Given the description of an element on the screen output the (x, y) to click on. 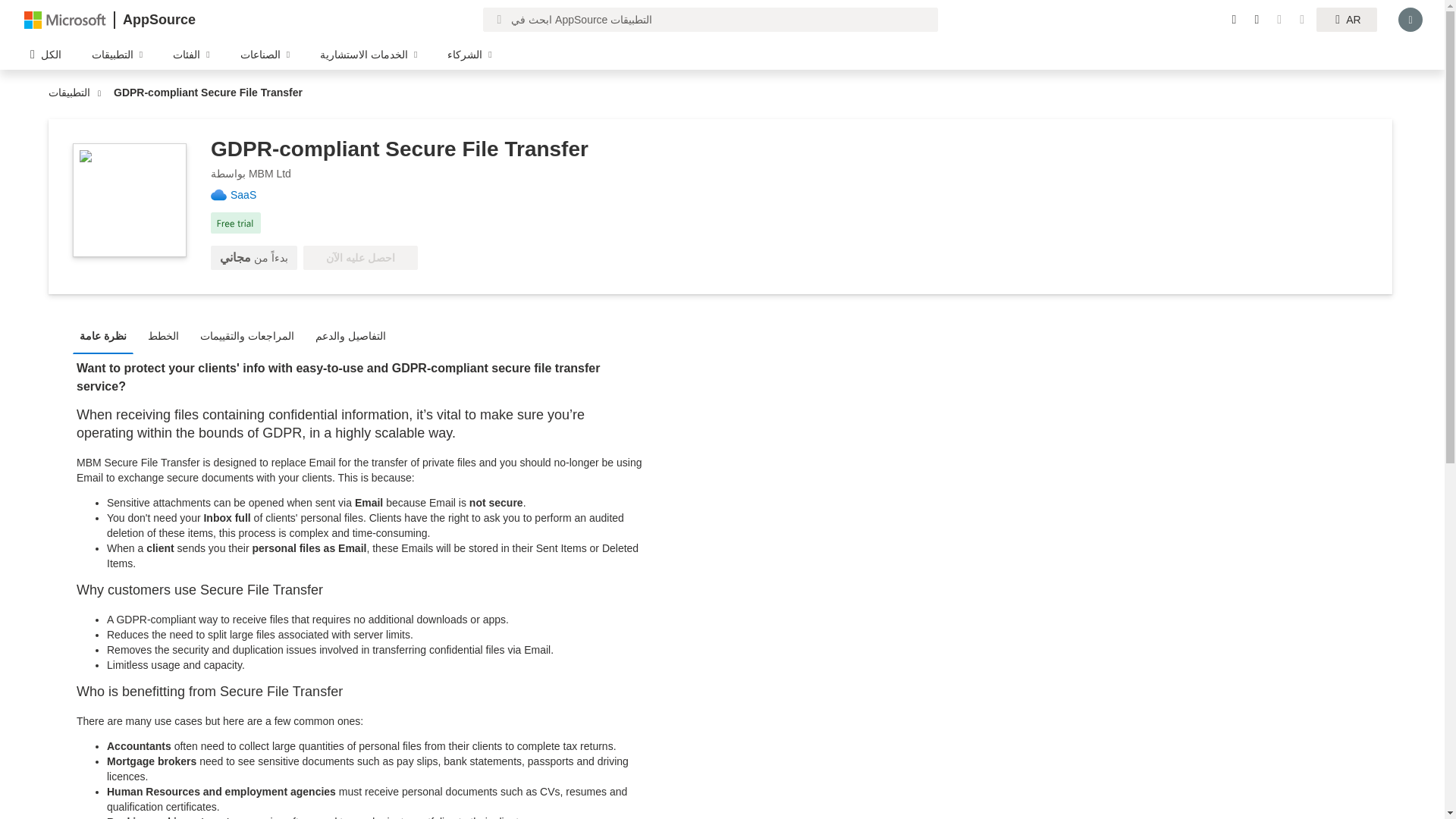
AppSource (158, 19)
SaaS (248, 194)
Microsoft (65, 18)
SaaS (248, 194)
